Given the description of an element on the screen output the (x, y) to click on. 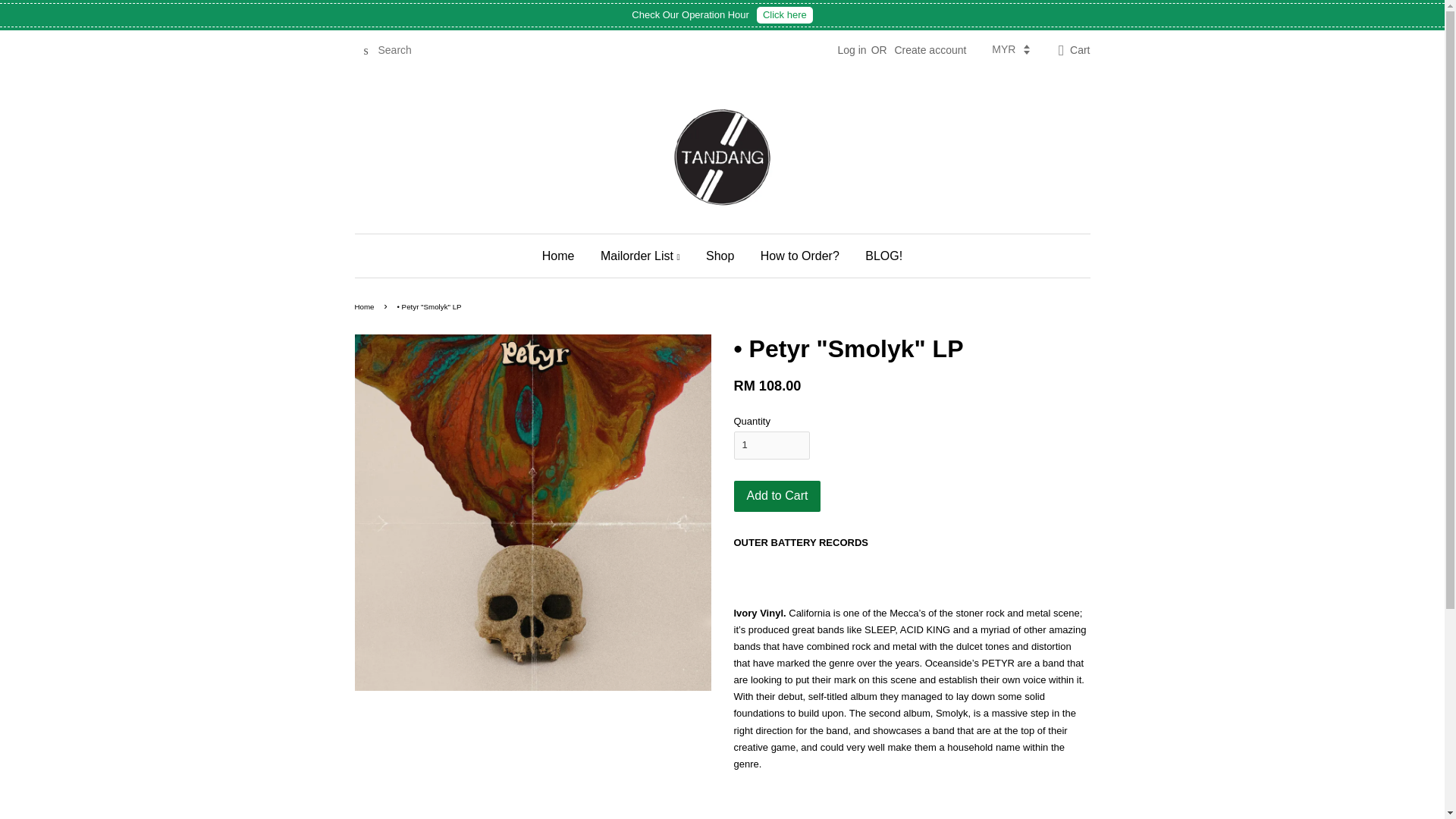
Back to the homepage (366, 306)
Create account (930, 50)
Search (366, 51)
Log in (852, 50)
Click here (784, 14)
Cart (1079, 50)
1 (771, 444)
